Given the description of an element on the screen output the (x, y) to click on. 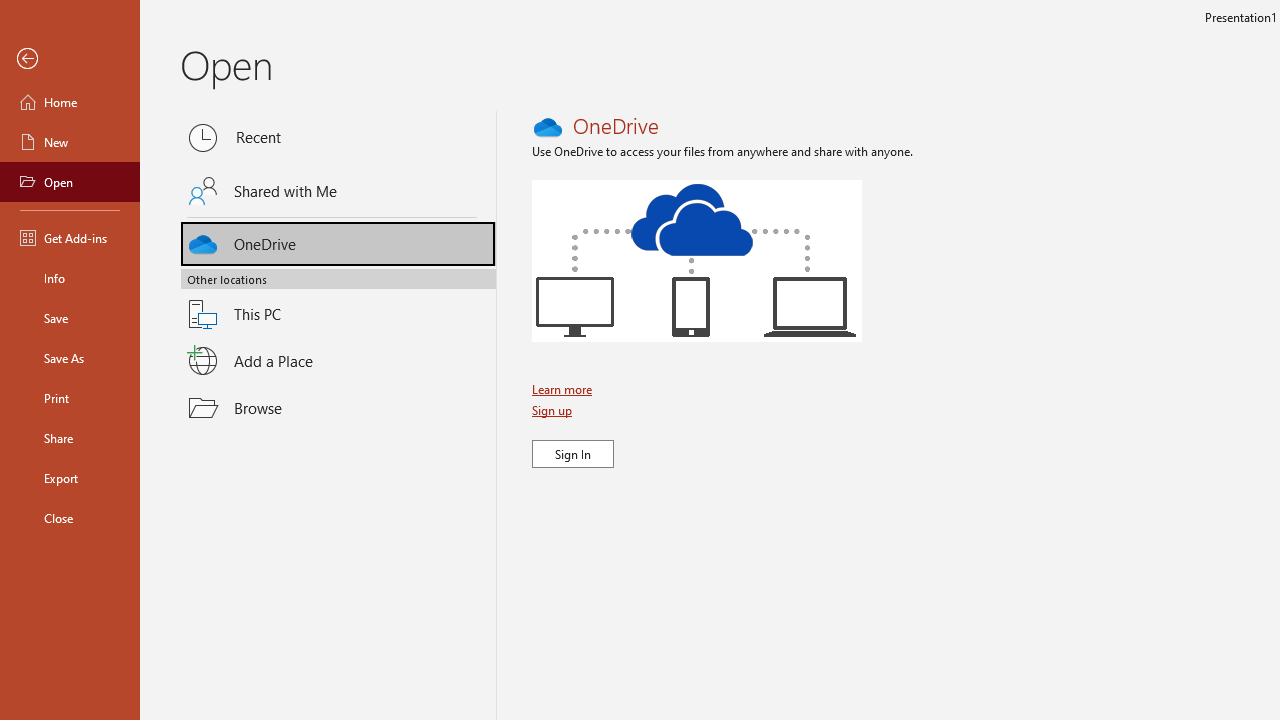
Sign up (554, 410)
Recent (338, 138)
Print (69, 398)
Get Add-ins (69, 237)
Save As (69, 357)
Learn more (564, 389)
Browse (338, 407)
Info (69, 277)
OneDrive (338, 240)
New (69, 141)
